Given the description of an element on the screen output the (x, y) to click on. 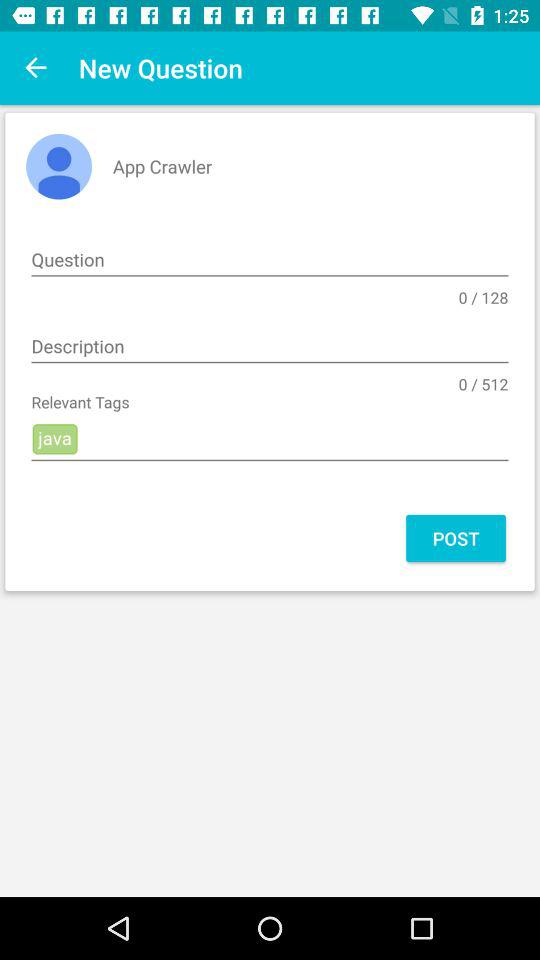
launch the java  icon (269, 439)
